Given the description of an element on the screen output the (x, y) to click on. 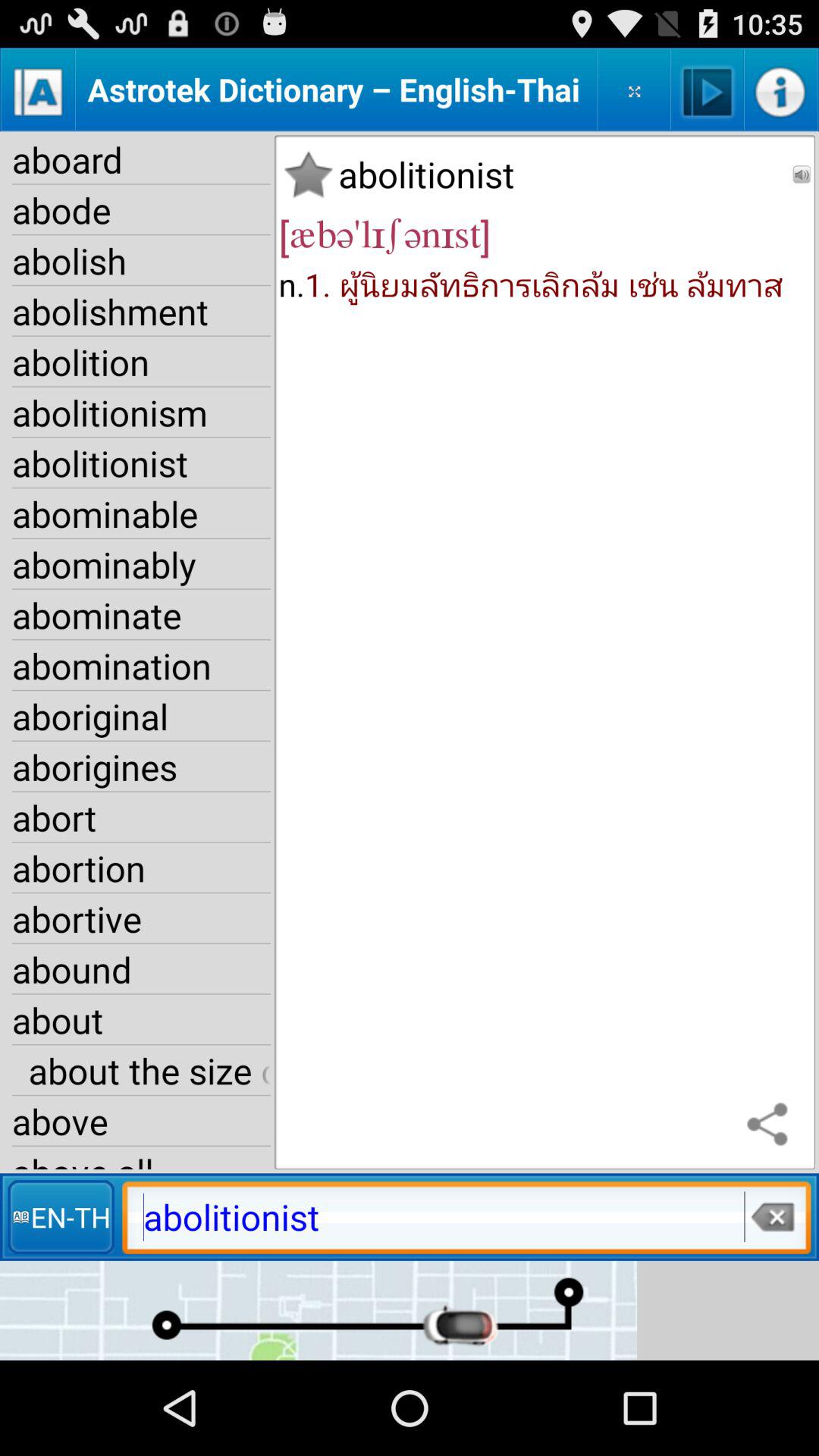
share to network (771, 1125)
